Given the description of an element on the screen output the (x, y) to click on. 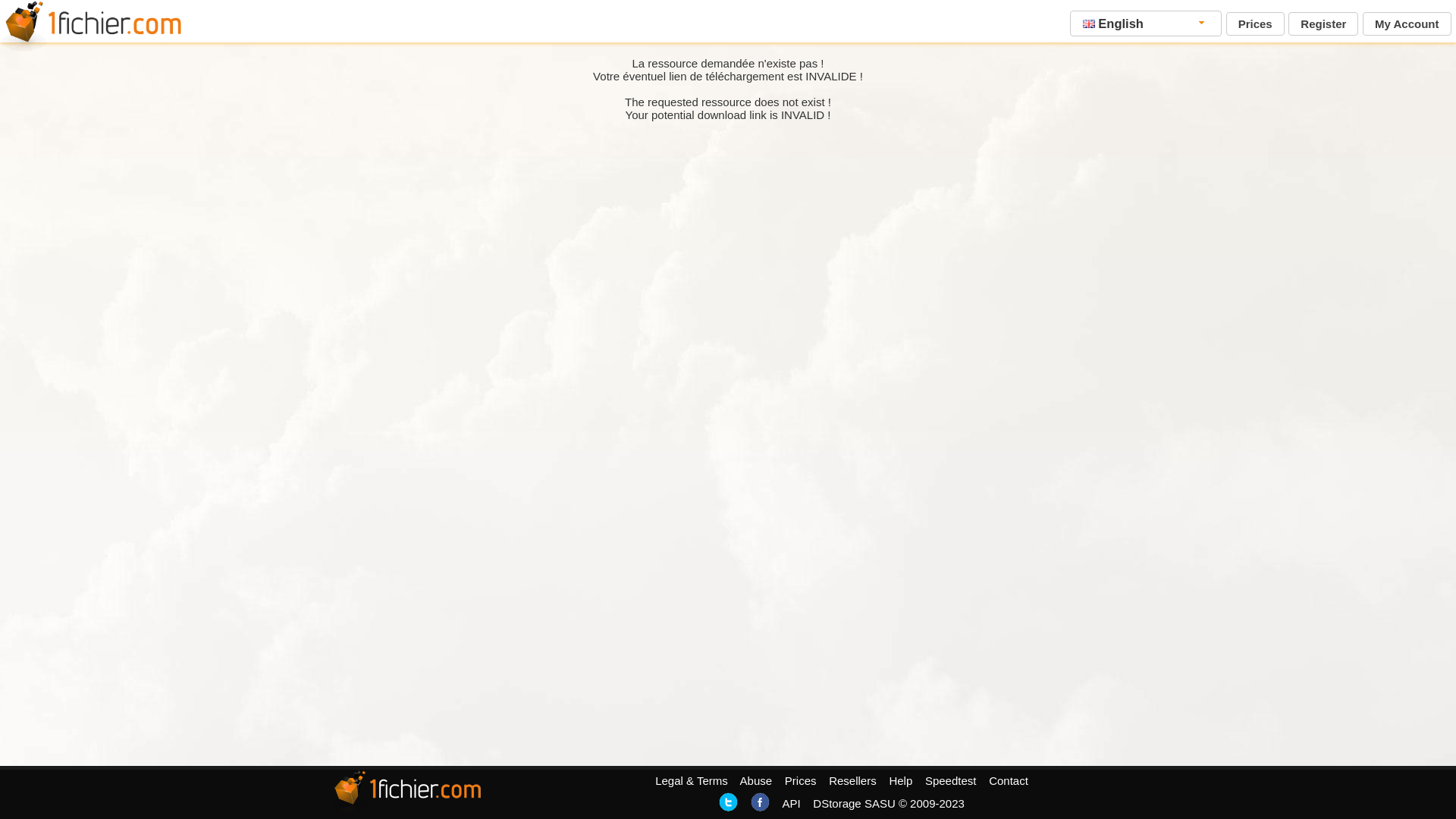
Legal & Terms Element type: text (691, 780)
Prices Element type: text (1255, 23)
Prices Element type: text (800, 780)
My Account Element type: text (1406, 23)
Contact Element type: text (1008, 780)
Abuse Element type: text (756, 780)
API Element type: text (790, 803)
Help Element type: text (900, 780)
Speedtest Element type: text (950, 780)
Resellers Element type: text (852, 780)
Register Element type: text (1323, 23)
